Given the description of an element on the screen output the (x, y) to click on. 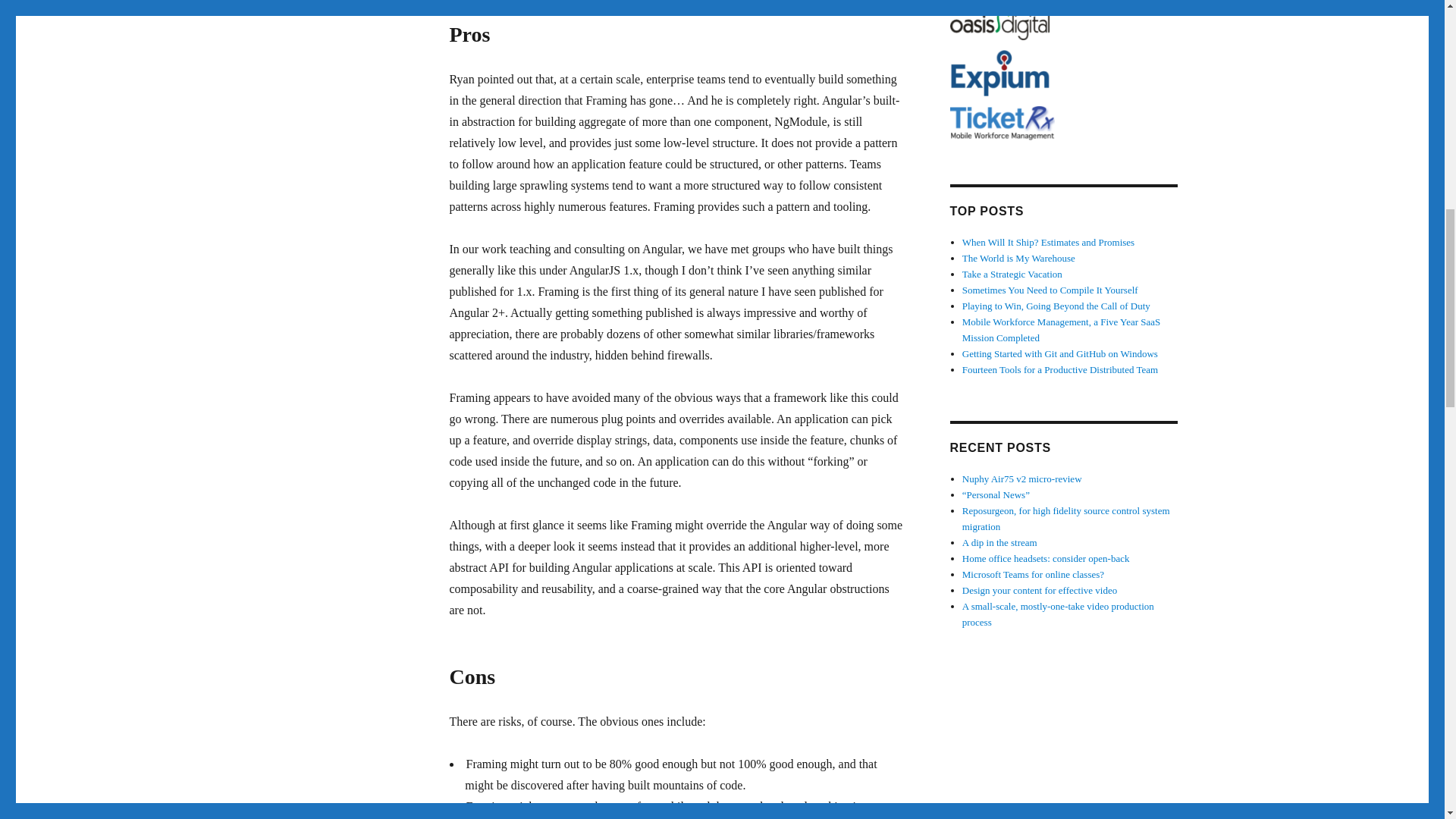
The World is My Warehouse (1018, 257)
Nuphy Air75 v2 micro-review (1021, 478)
Sometimes You Need to Compile It Yourself (1050, 289)
Fourteen Tools for a Productive Distributed Team (1059, 369)
Take a Strategic Vacation (1012, 274)
Getting Started with Git and GitHub on Windows (1059, 353)
When Will It Ship? Estimates and Promises (1048, 242)
Playing to Win, Going Beyond the Call of Duty (1056, 306)
